Given the description of an element on the screen output the (x, y) to click on. 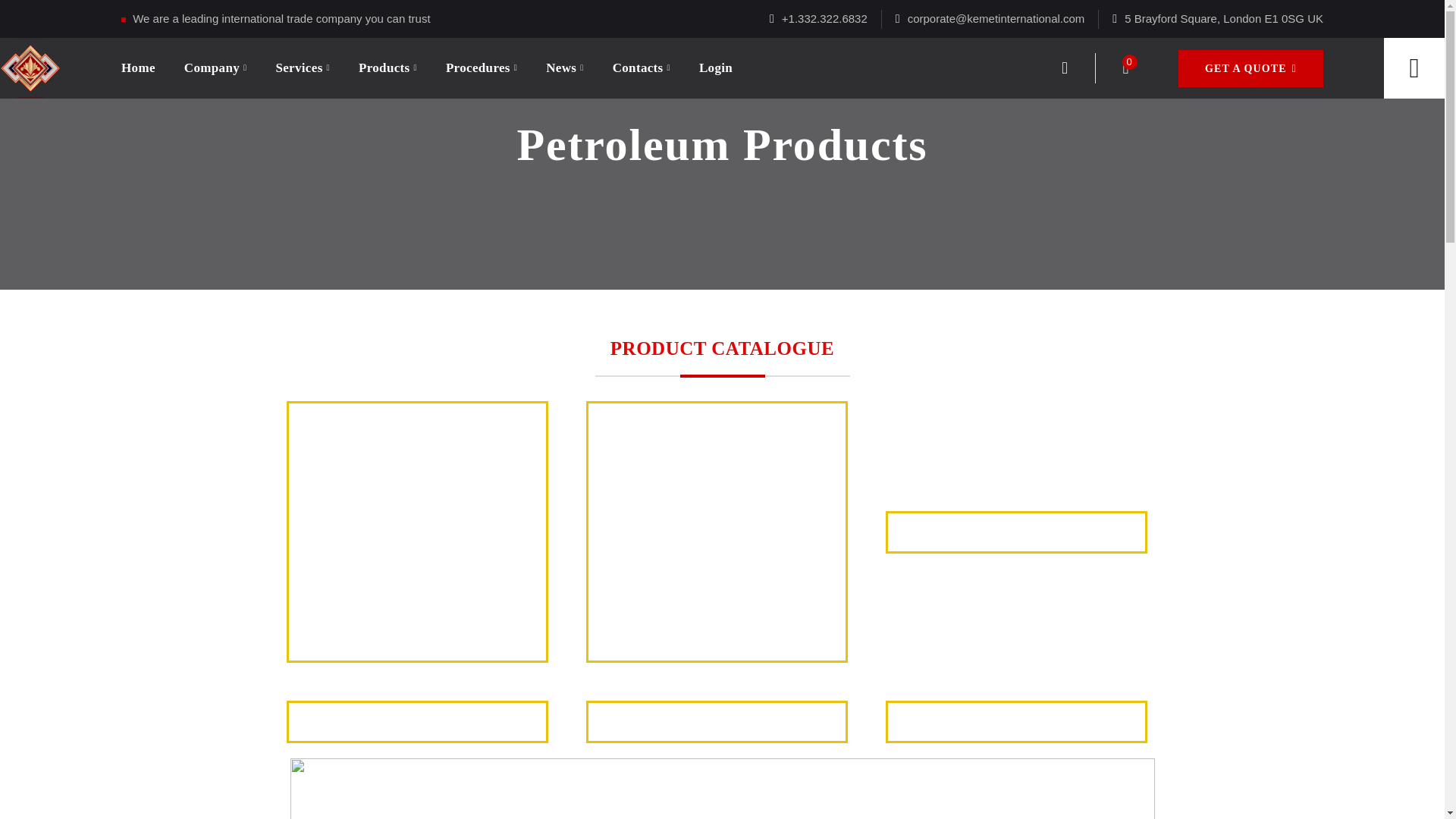
Procedures (480, 67)
5 Brayford Square, London E1 0SG UK (1223, 18)
KEMET INTERNATIONAL HOLDING GROUP (30, 66)
Company (215, 67)
Services (302, 67)
Contacts (640, 67)
Products (387, 67)
